Given the description of an element on the screen output the (x, y) to click on. 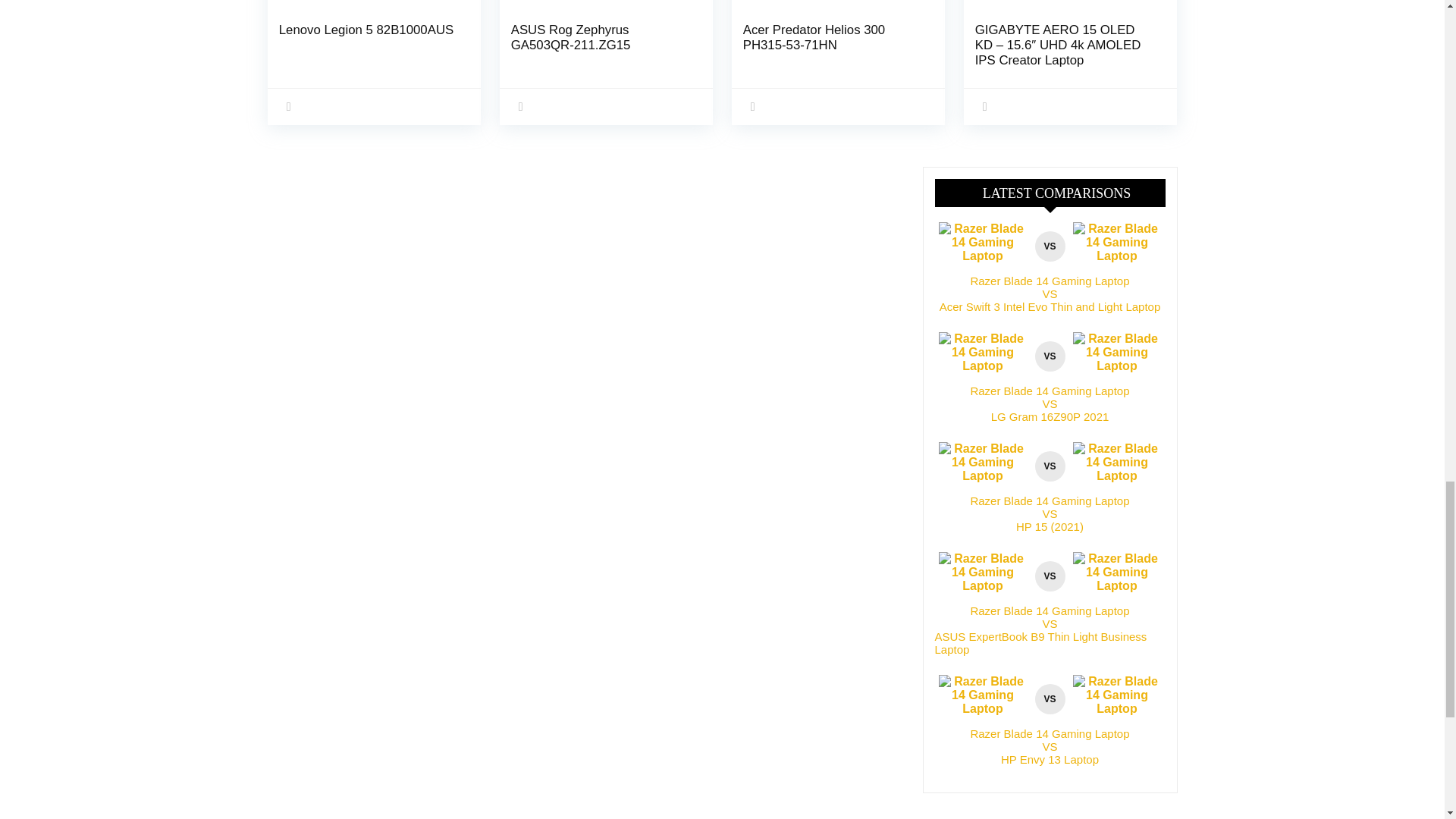
Acer Predator Helios 300 PH315-53-71HN (813, 37)
Lenovo Legion 5 82B1000AUS (365, 29)
ASUS Rog Zephyrus GA503QR-211.ZG15 (570, 37)
